Given the description of an element on the screen output the (x, y) to click on. 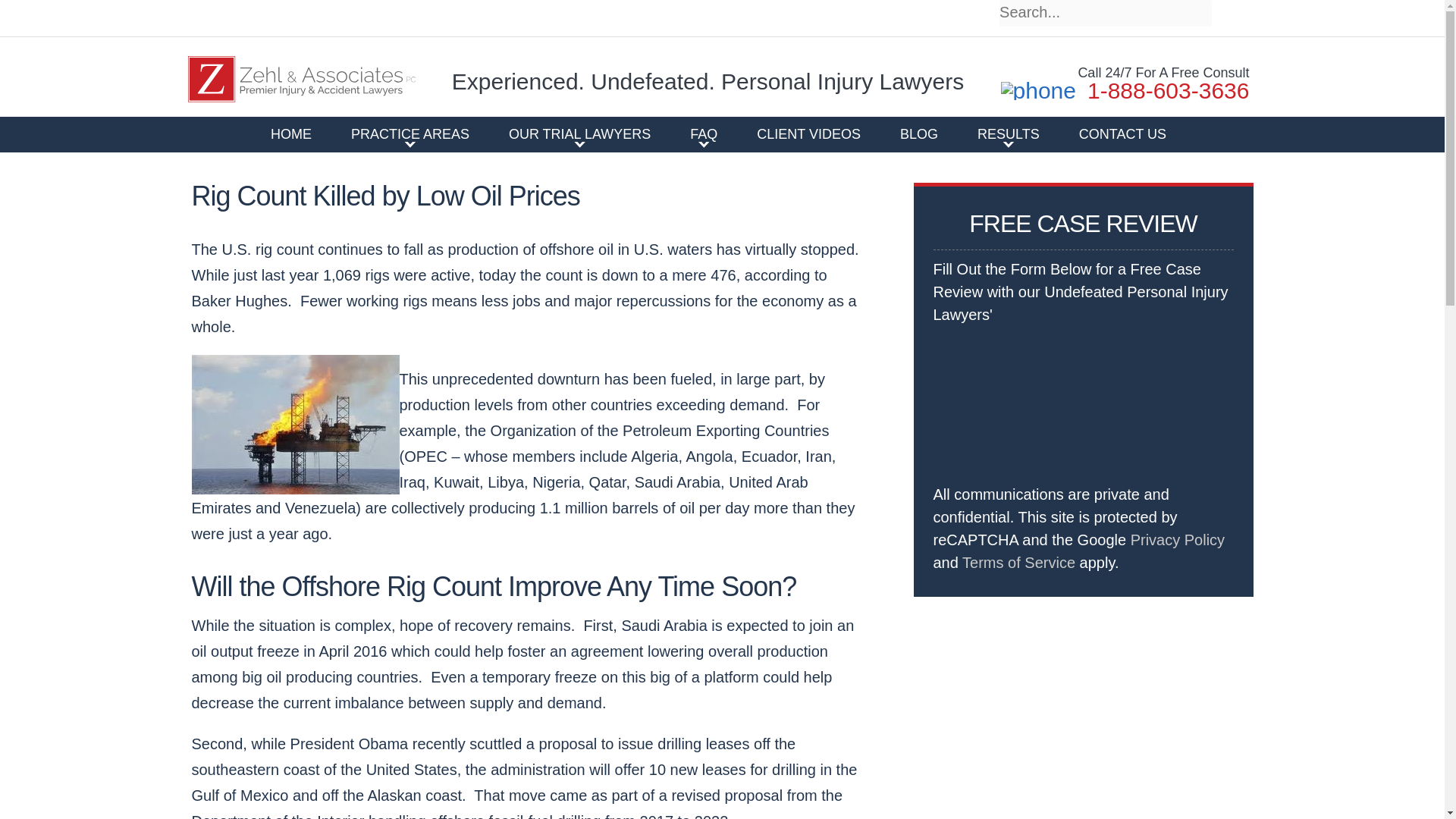
Maritime Lawyers - Offshore Oil Rig Count (294, 424)
OUR TRIAL LAWYERS (579, 133)
PRACTICE AREAS (409, 133)
HOME (290, 133)
1-888-603-3636 (1125, 90)
